Given the description of an element on the screen output the (x, y) to click on. 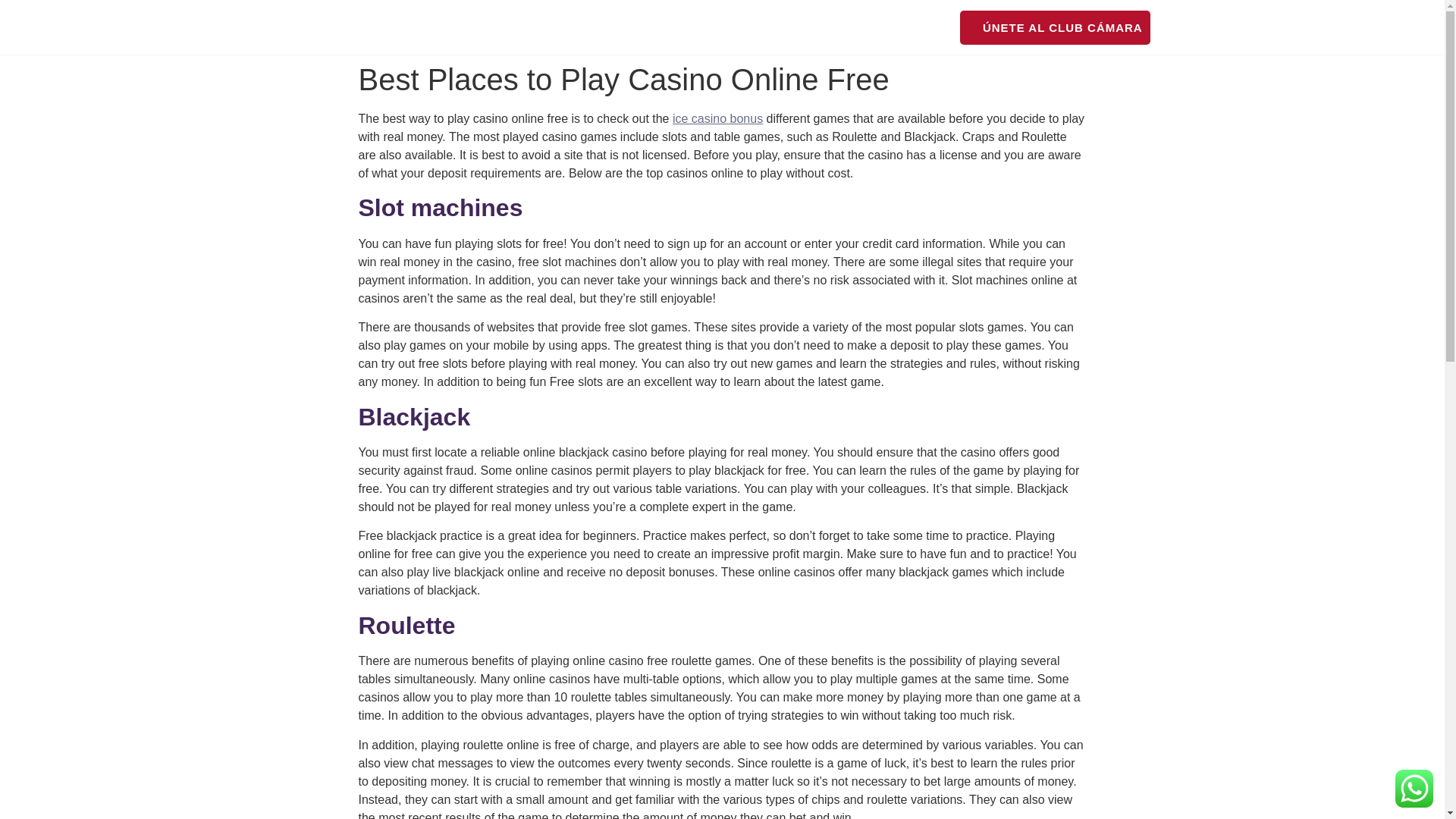
MULTIMEDIA (843, 27)
AGENDA (751, 27)
INICIO (562, 27)
ice casino bonus (717, 118)
FAQS (924, 27)
